Given the description of an element on the screen output the (x, y) to click on. 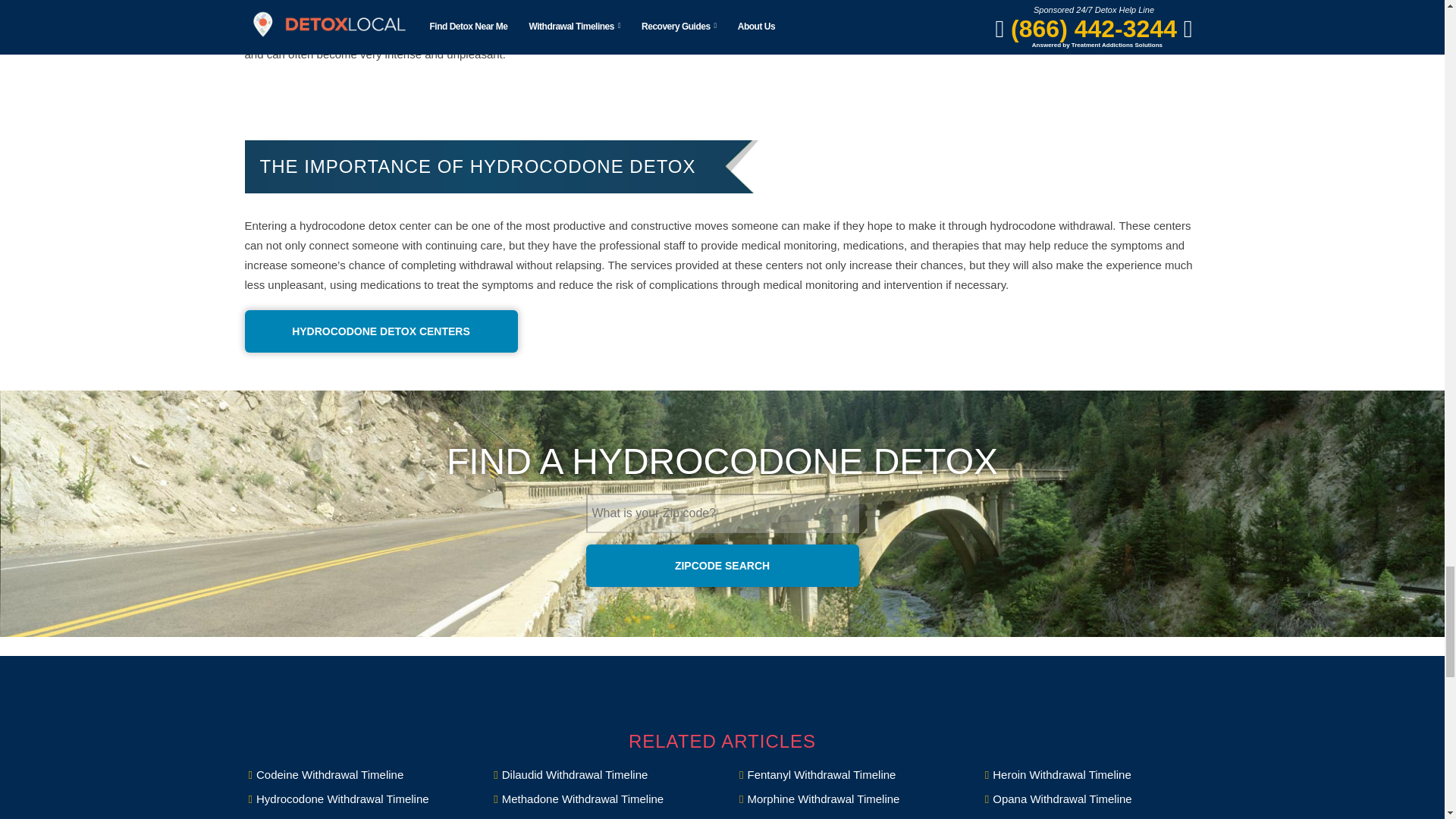
Oxycodone (353, 815)
Heroin (1090, 774)
Vicodin (1090, 815)
Zipcode Search (722, 565)
Fentanyl (845, 774)
Morphine (845, 799)
Hydrocodone (353, 799)
Dilaudid (599, 774)
Suboxone (599, 815)
Methadone (599, 799)
